Given the description of an element on the screen output the (x, y) to click on. 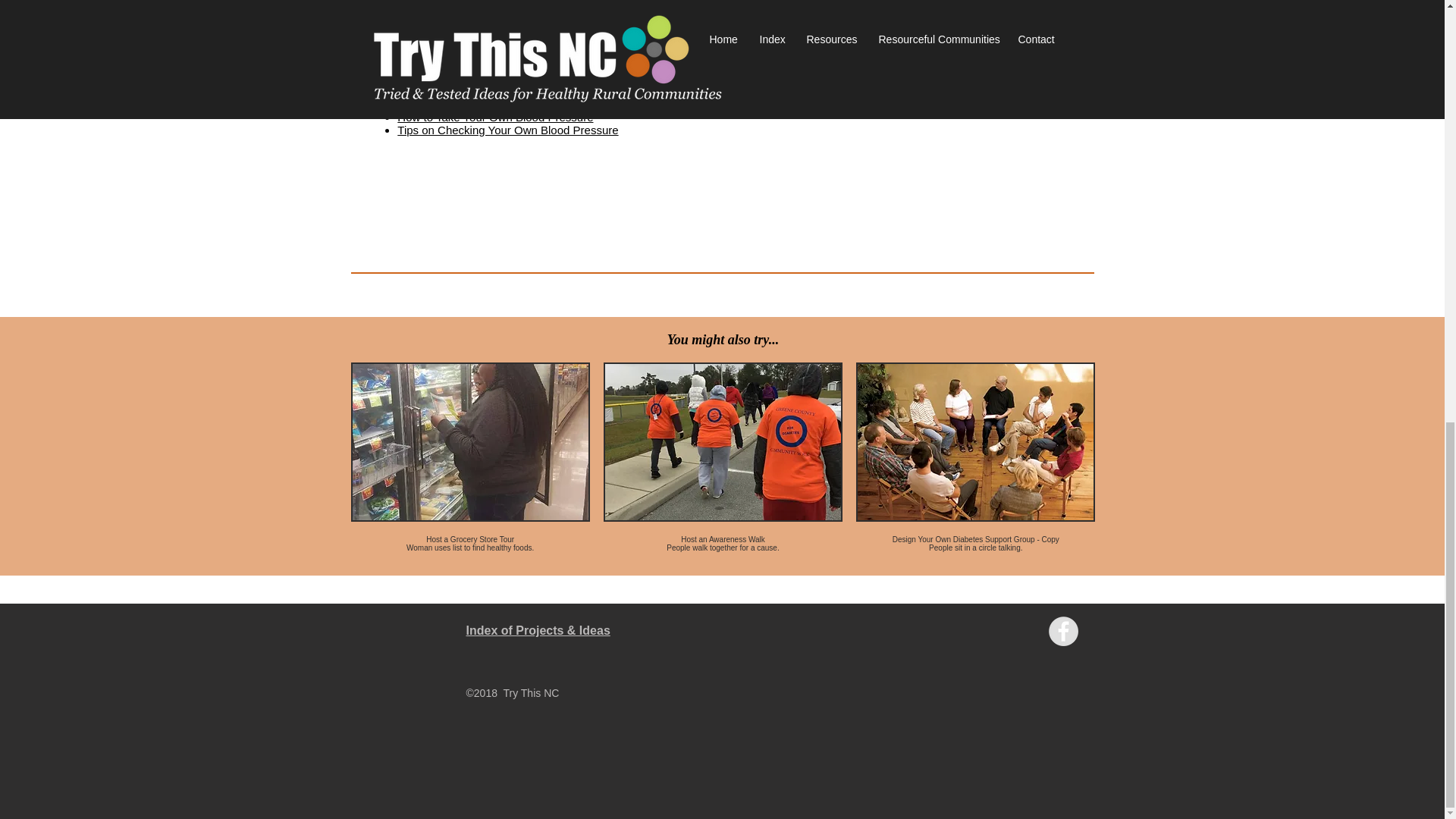
How to Take Your Own Blood Pressure (494, 116)
Understanding Blood Pressure Readings (500, 103)
Tips on Checking Your Own Blood Pressure (507, 129)
